Given the description of an element on the screen output the (x, y) to click on. 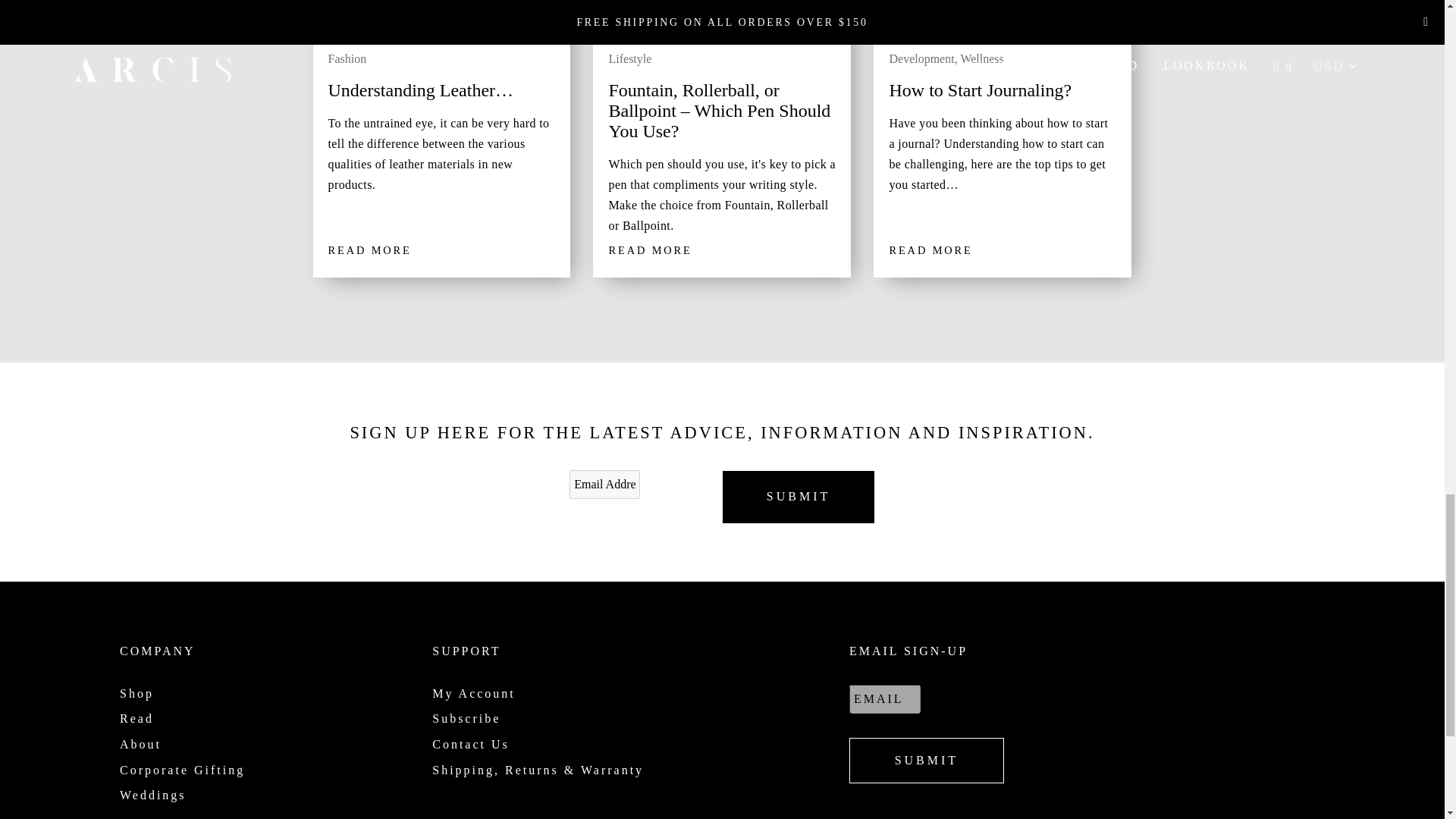
Submit (798, 497)
Shop (136, 693)
About (140, 744)
Read (136, 717)
Submit (798, 497)
Submit (926, 759)
My Account (473, 693)
Corporate Gifting (181, 769)
Weddings (152, 794)
